Given the description of an element on the screen output the (x, y) to click on. 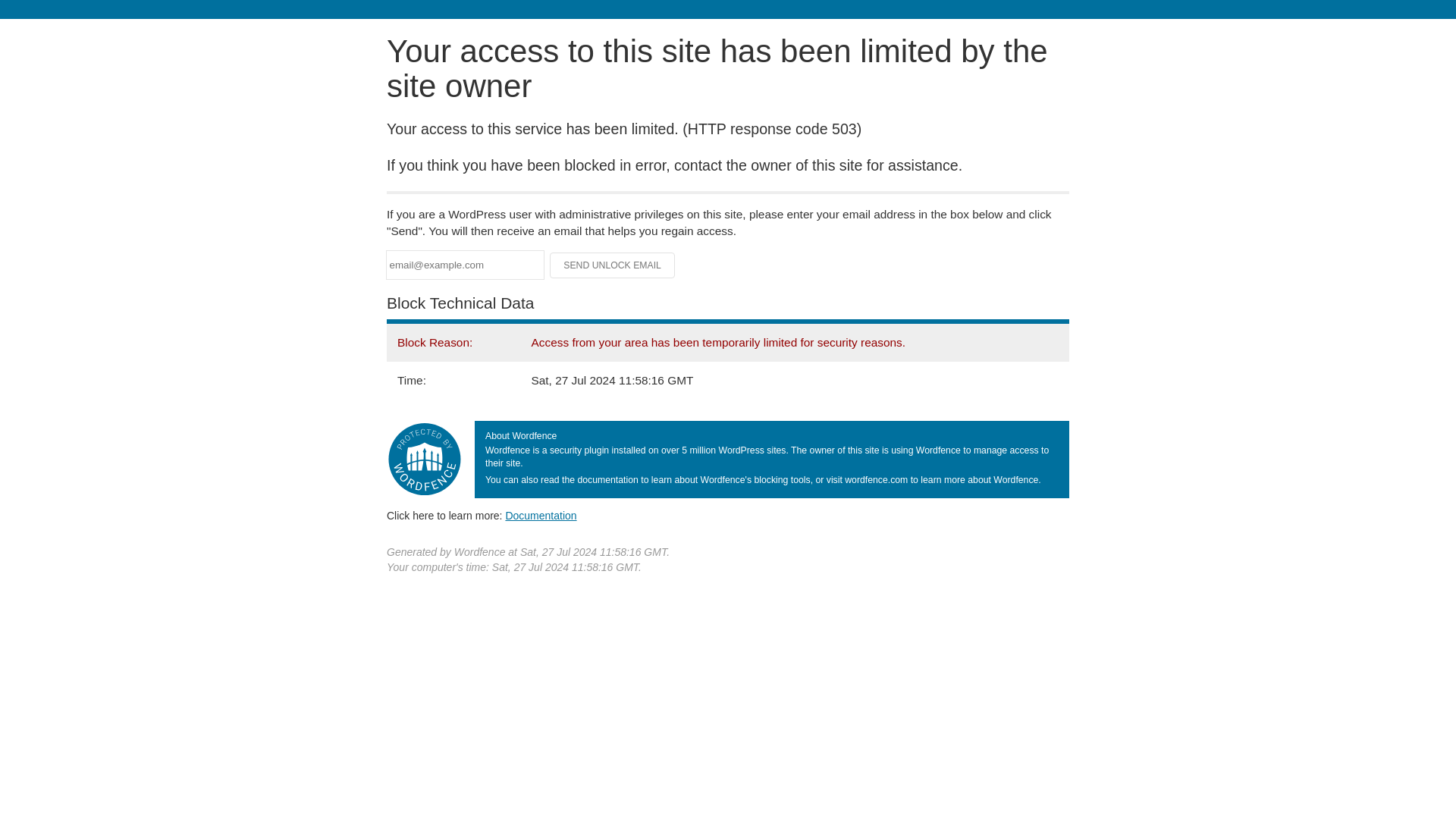
Documentation (540, 515)
Send Unlock Email (612, 265)
Send Unlock Email (612, 265)
